Given the description of an element on the screen output the (x, y) to click on. 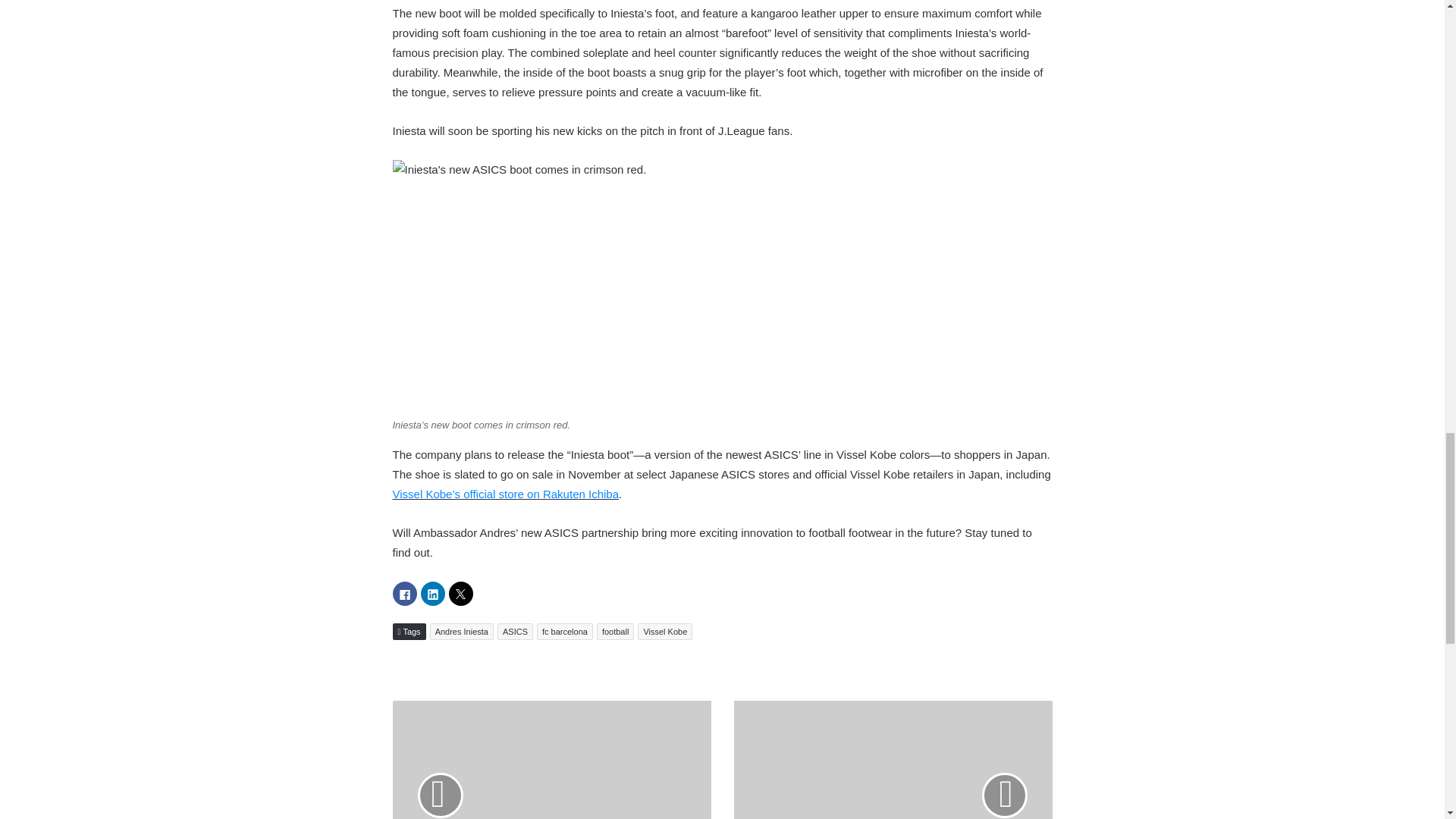
fc barcelona (564, 631)
Click to share on Facebook (404, 593)
ASICS (514, 631)
Vissel Kobe (665, 631)
Click to share on LinkedIn (432, 593)
football (614, 631)
Andres Iniesta (461, 631)
Click to share on Twitter (460, 593)
